Given the description of an element on the screen output the (x, y) to click on. 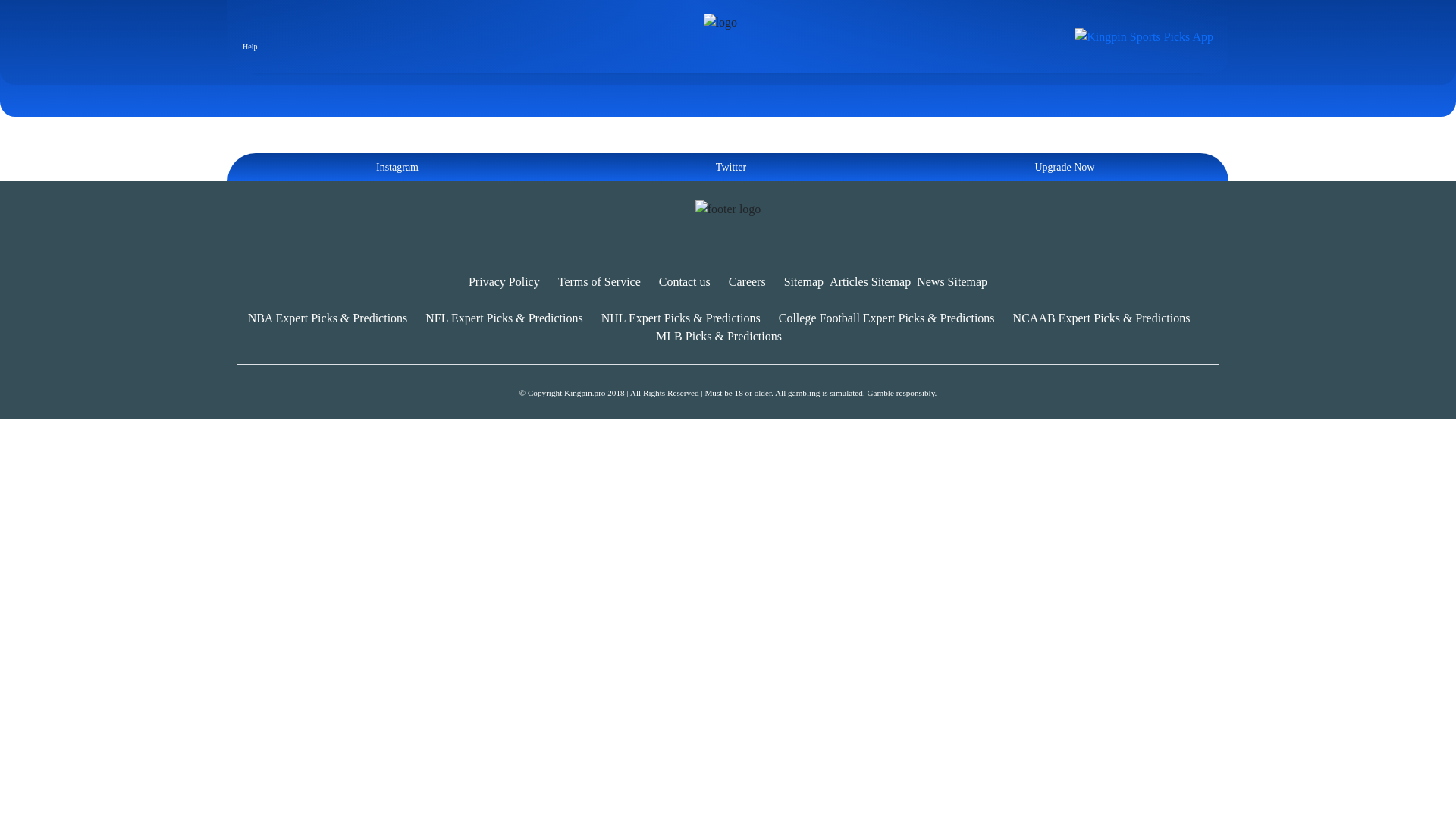
Upgrade Now (1062, 166)
Kingpin Sports Picks App (1143, 34)
Terms of Service (598, 281)
Articles Sitemap (870, 281)
Careers (747, 281)
Twitter (727, 166)
Instagram (393, 166)
Privacy Policy (504, 281)
News Sitemap (952, 281)
Contact us (684, 281)
